Given the description of an element on the screen output the (x, y) to click on. 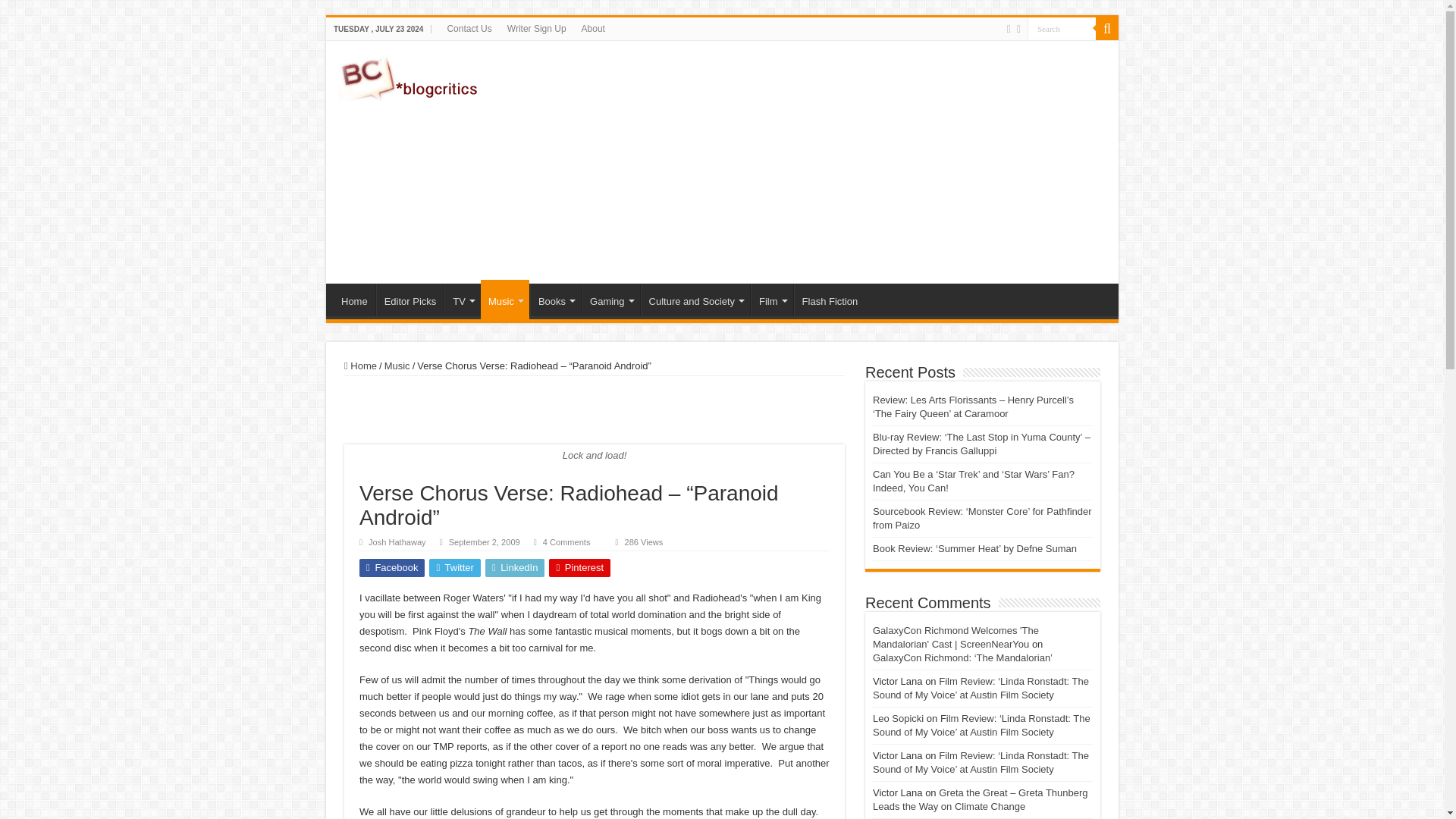
Search (1061, 28)
Blogcritics (409, 75)
Advertisement (830, 162)
Search (1061, 28)
Search (1061, 28)
